Given the description of an element on the screen output the (x, y) to click on. 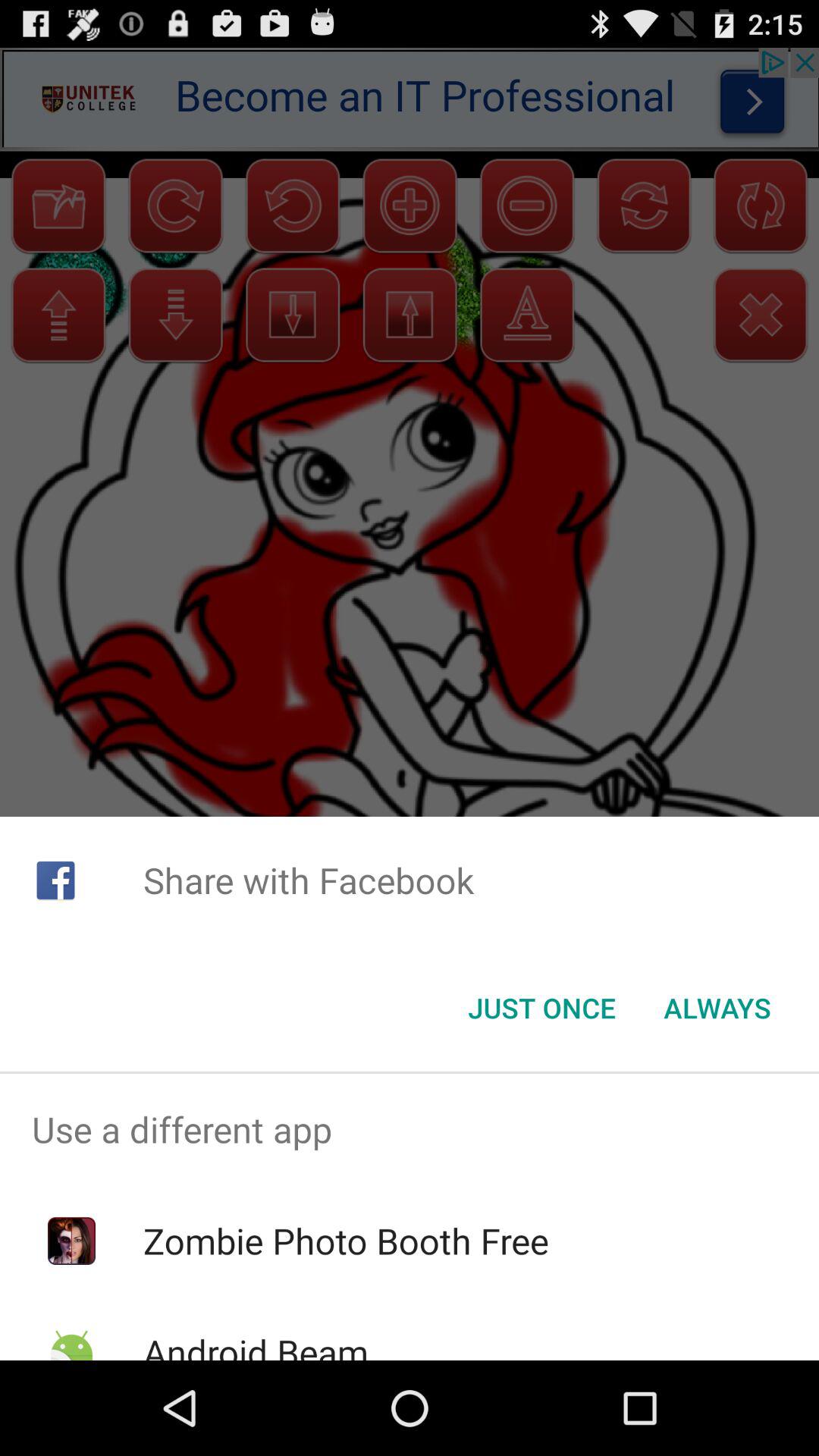
turn on item to the right of just once icon (717, 1007)
